Given the description of an element on the screen output the (x, y) to click on. 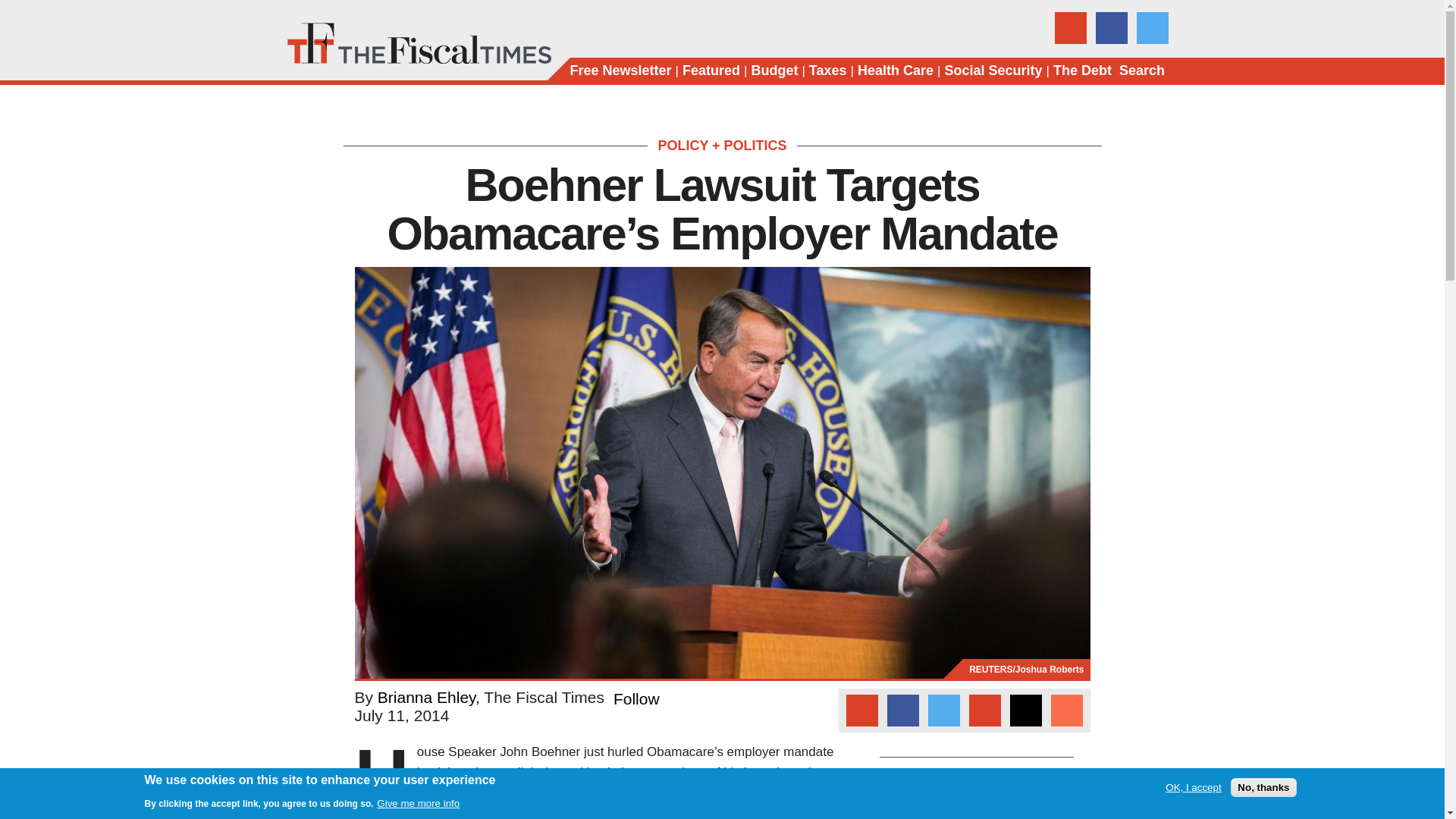
Budget (774, 71)
Featured (710, 71)
Health Care (895, 71)
Free Newsletter (620, 71)
Social Security (992, 71)
The Debt (1082, 71)
Search (1141, 71)
Taxes (828, 71)
